Given the description of an element on the screen output the (x, y) to click on. 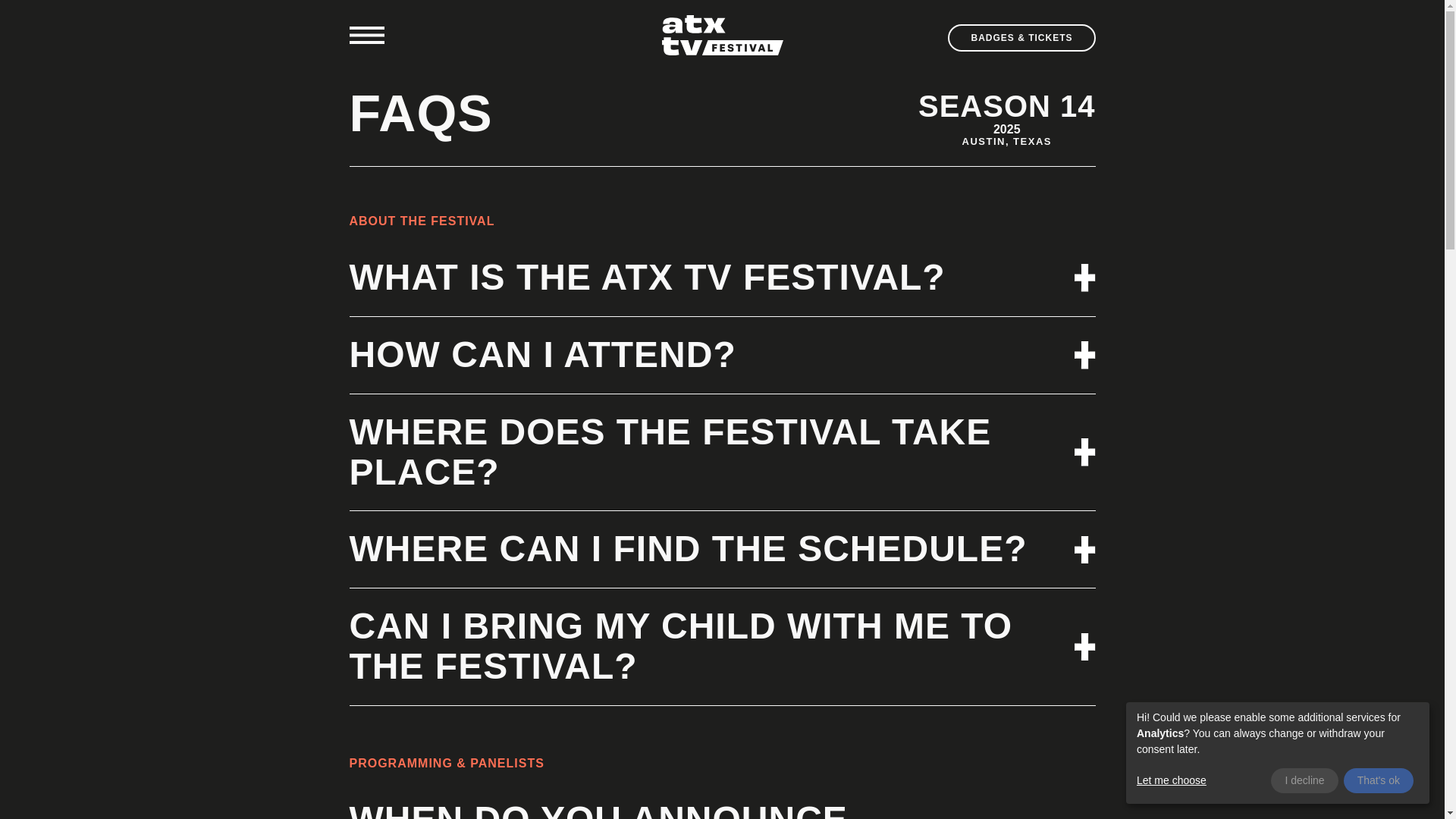
HOW CAN I ATTEND? (721, 354)
WHAT IS THE ATX TV FESTIVAL? (721, 277)
WHERE CAN I FIND THE SCHEDULE? (721, 549)
WHERE DOES THE FESTIVAL TAKE PLACE? (721, 452)
Open Navigation (366, 35)
CAN I BRING MY CHILD WITH ME TO THE FESTIVAL? (721, 646)
